Given the description of an element on the screen output the (x, y) to click on. 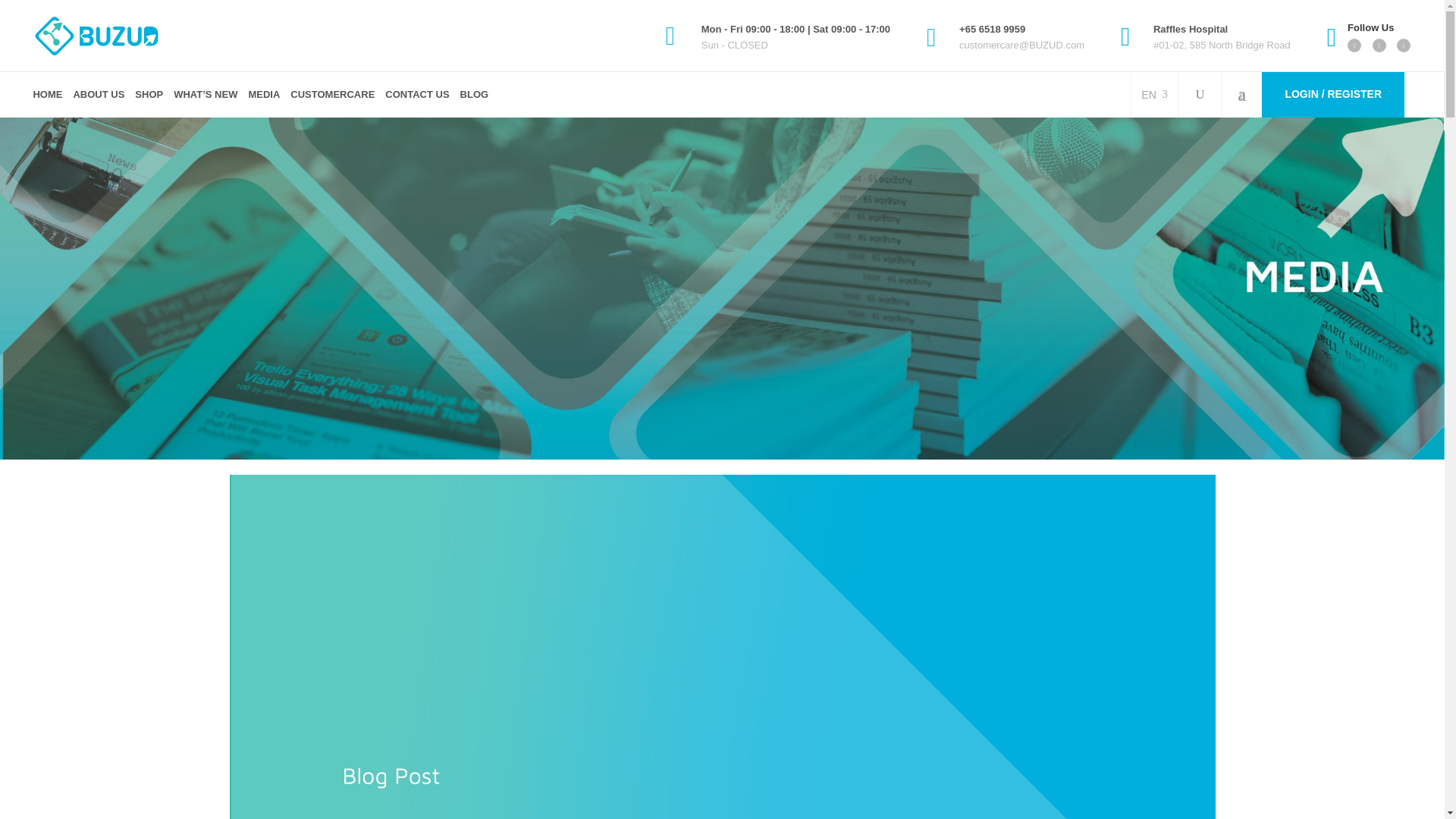
CONTACT US (417, 94)
MEDIA (264, 94)
Search (1172, 142)
ABOUT US (97, 94)
EN (1154, 94)
CUSTOMERCARE (332, 94)
